Given the description of an element on the screen output the (x, y) to click on. 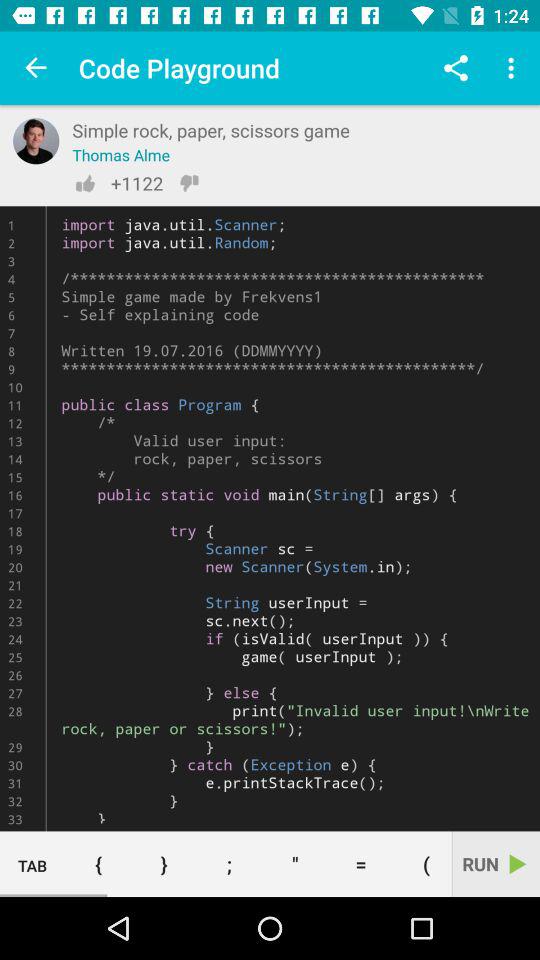
open the item above the import java util (513, 67)
